Given the description of an element on the screen output the (x, y) to click on. 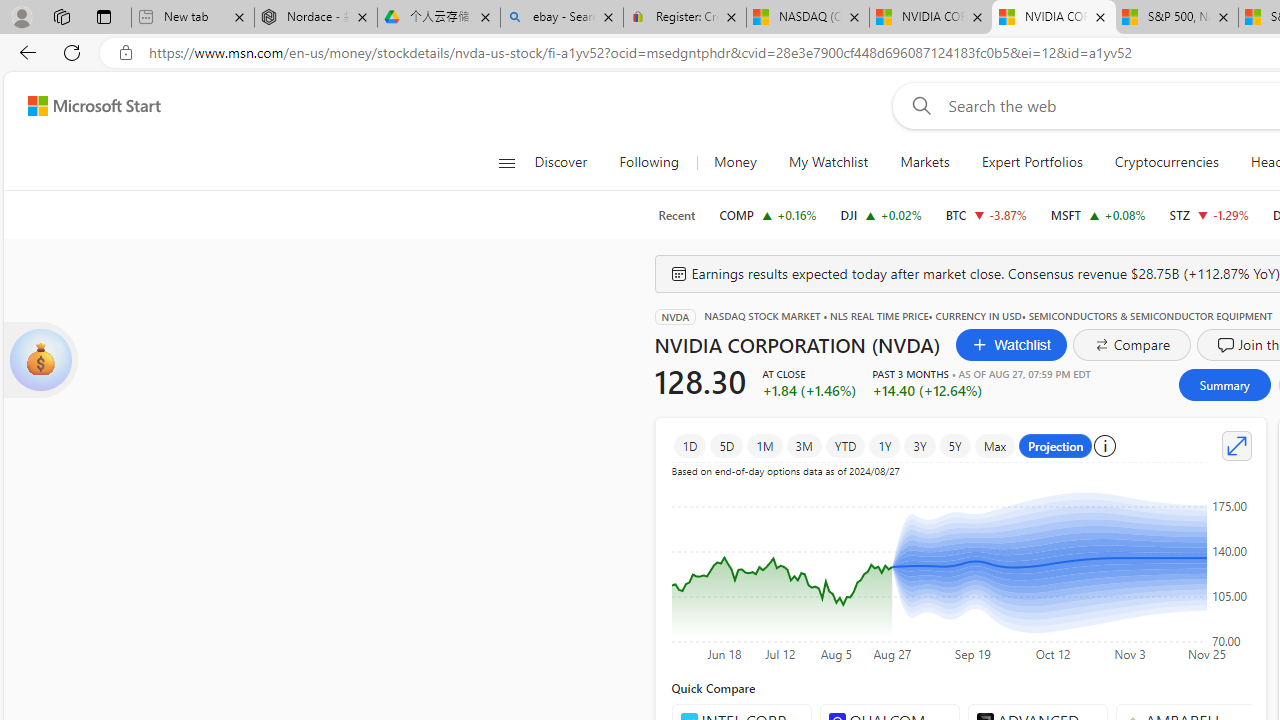
1D (689, 445)
3Y (919, 445)
S&P 500, Nasdaq end lower, weighed by Nvidia dip | Watch (1176, 17)
Cryptocurrencies (1165, 162)
Watchlist (1011, 344)
Max (995, 445)
DJI DOW increase 41,250.50 +9.98 +0.02% (881, 214)
show card (40, 359)
My Watchlist (828, 162)
Expert Portfolios (1031, 162)
YTD (845, 445)
COMP NASDAQ increase 17,754.82 +29.06 +0.16% (767, 214)
